Given the description of an element on the screen output the (x, y) to click on. 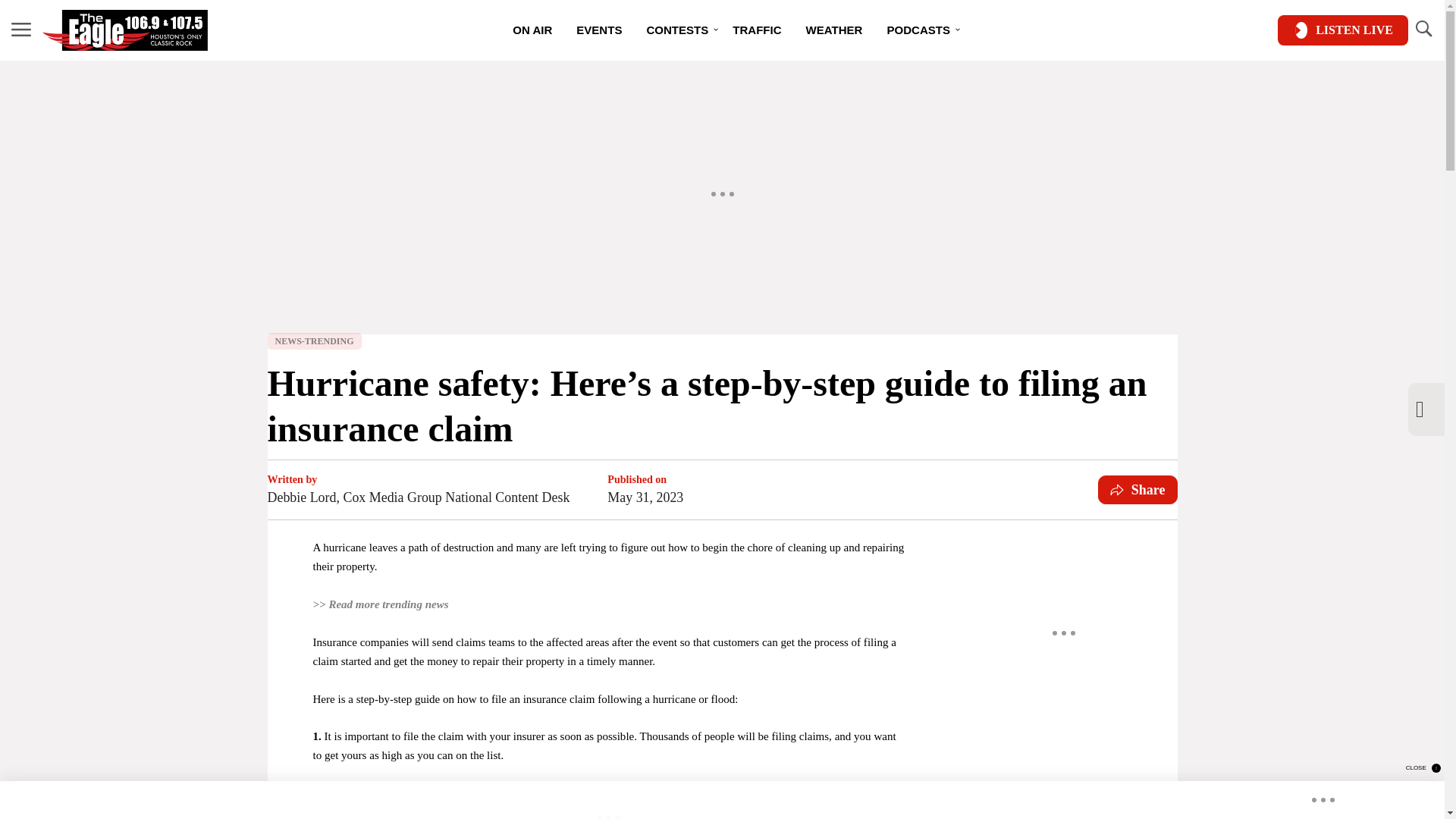
TOGGLE SEARCH (1422, 30)
Debbie Lord, Cox Media Group National Content Desk (417, 496)
TOGGLE SEARCH (1422, 28)
MENU (20, 30)
CONTESTS (676, 30)
LISTEN LIVE (1342, 30)
PODCASTS (918, 30)
ON AIR (532, 30)
Share (1137, 489)
MENU (20, 29)
NEWS-TRENDING (313, 340)
WEATHER (834, 30)
TRAFFIC (756, 30)
EVENTS (598, 30)
